Given the description of an element on the screen output the (x, y) to click on. 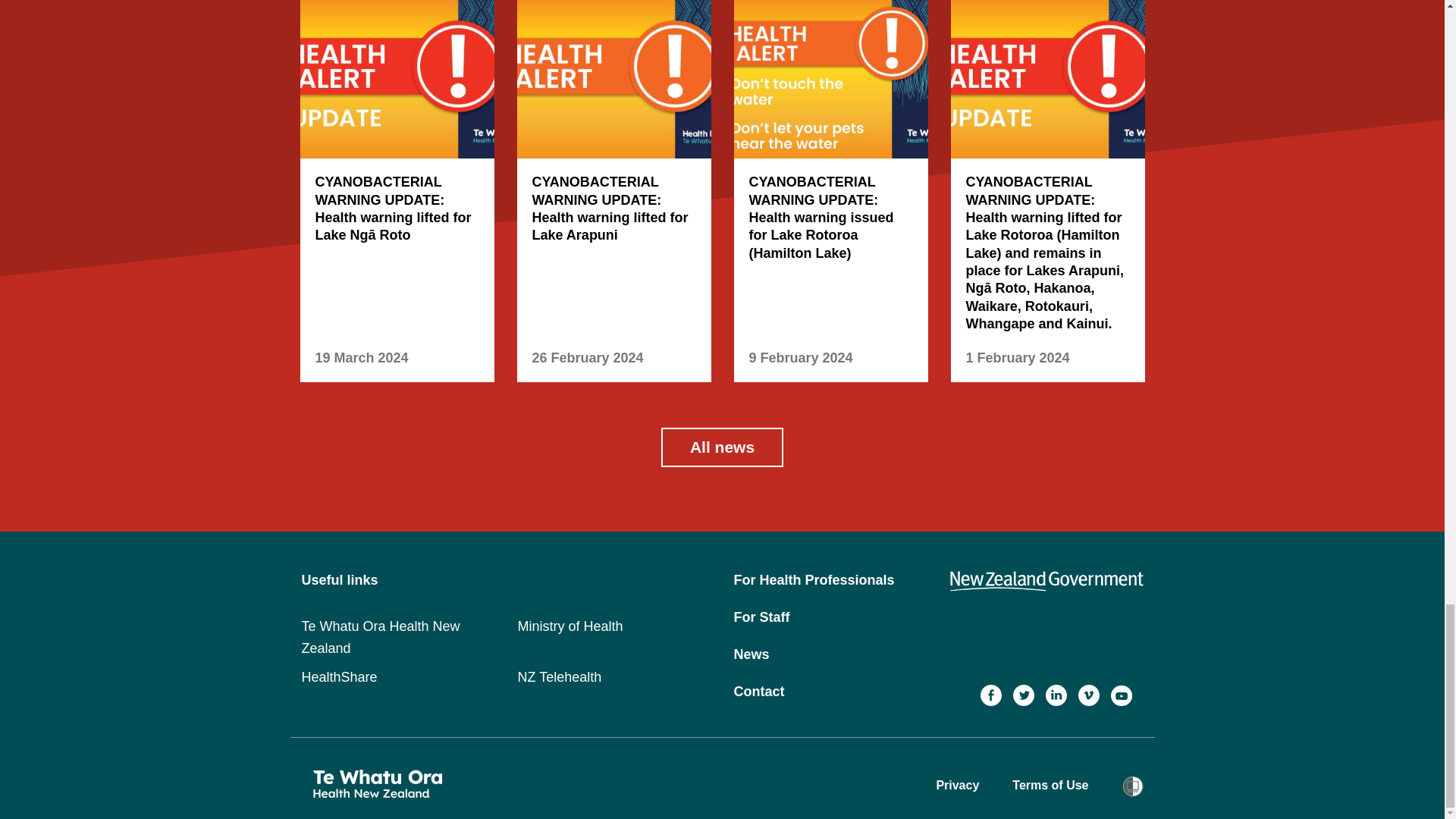
Contact (758, 691)
Ministry of Health (569, 626)
For Health Professionals (814, 580)
News (751, 654)
For Staff (761, 616)
NZ Telehealth (558, 676)
Te Whatu Ora Health New Zealand (380, 637)
HealthShare (339, 676)
